Given the description of an element on the screen output the (x, y) to click on. 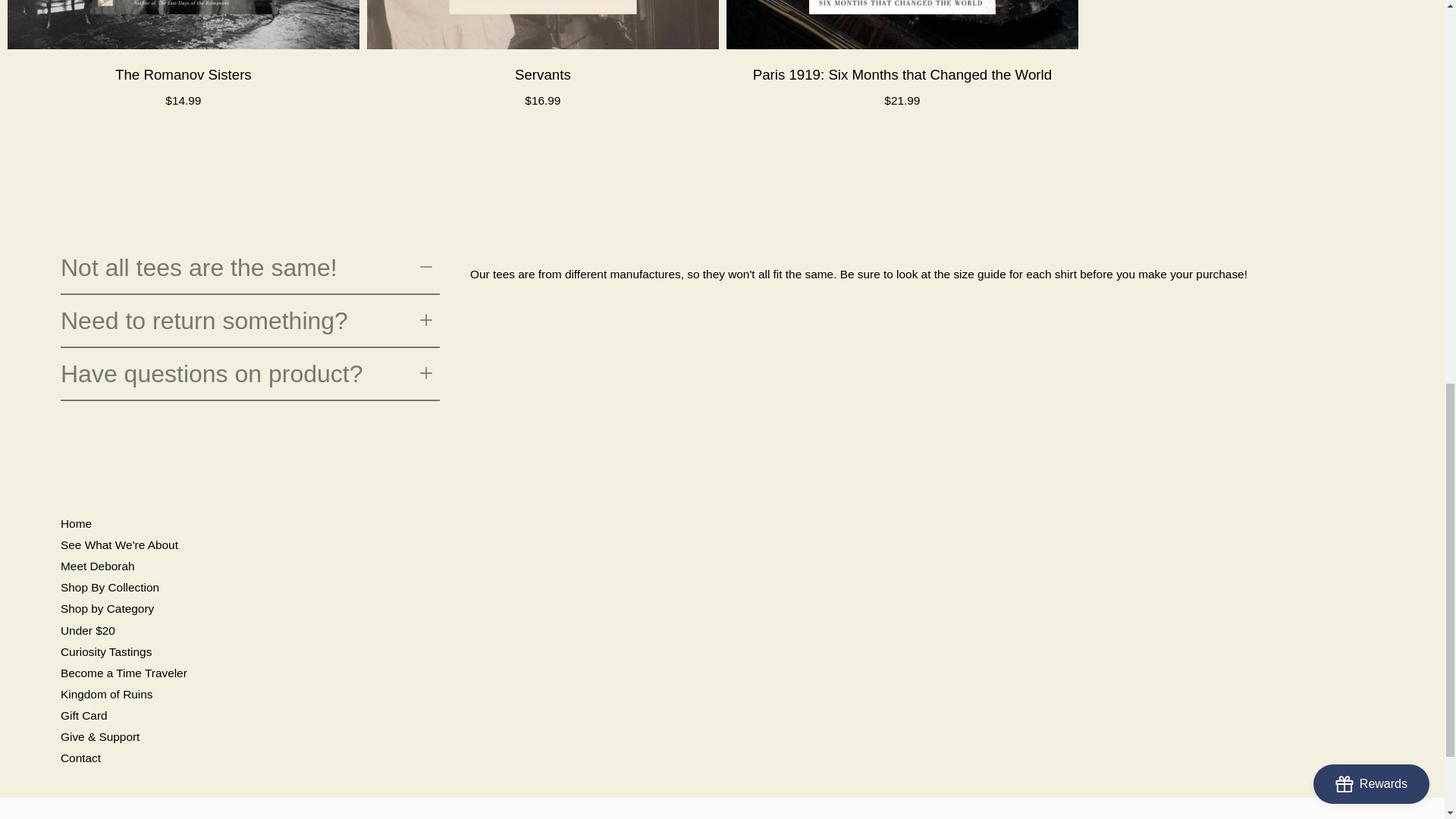
Servants (542, 24)
The Romanov Sisters (183, 24)
Paris 1919: Six Months that Changed the World (902, 24)
